Given the description of an element on the screen output the (x, y) to click on. 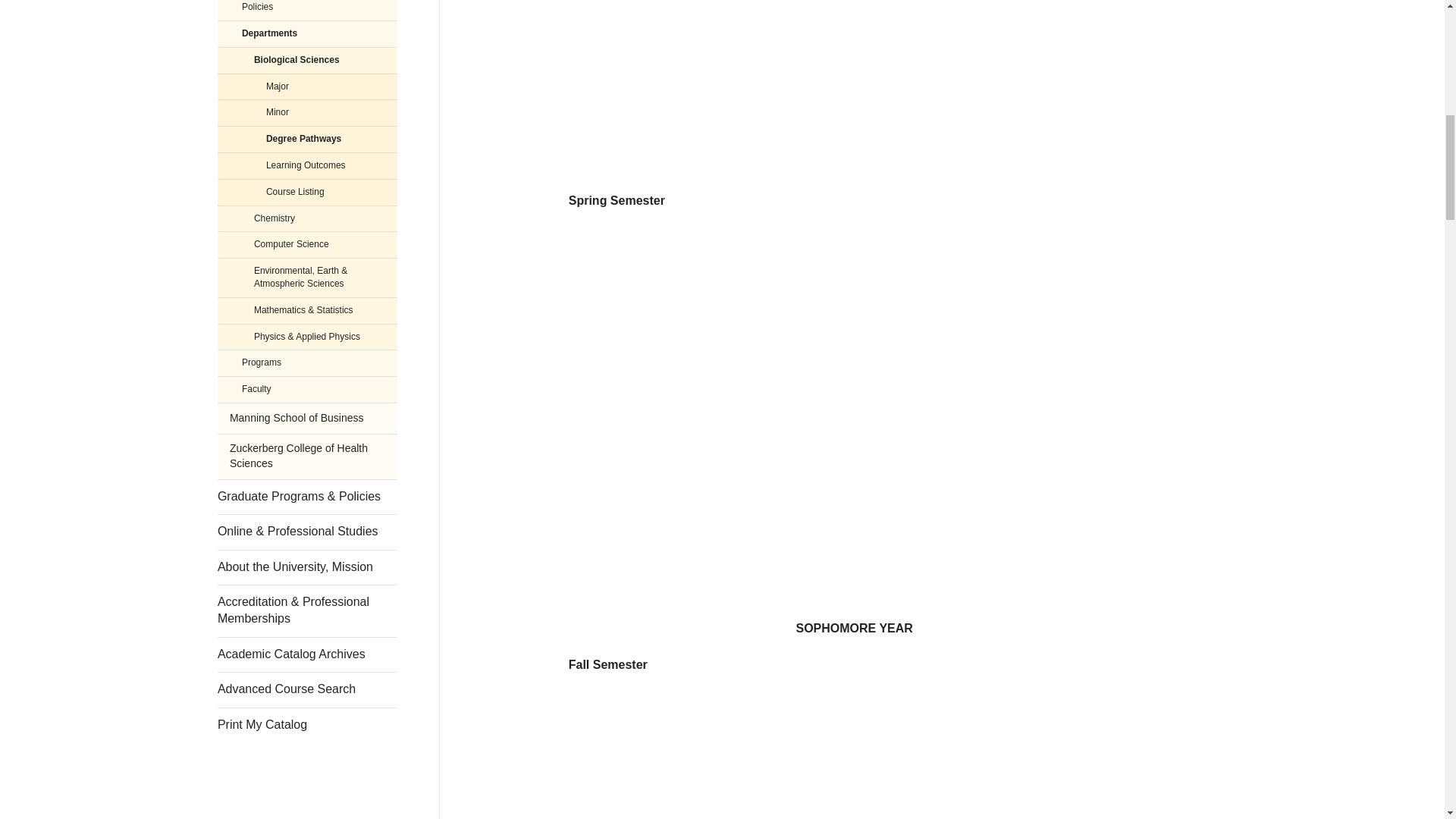
Minor (306, 112)
Course Listing (306, 192)
Chemistry (306, 218)
Departments (306, 33)
Major (306, 86)
Degree Pathways (306, 139)
Biological Sciences (306, 59)
Policies (306, 10)
Learning Outcomes (306, 165)
Computer Science (306, 243)
